Given the description of an element on the screen output the (x, y) to click on. 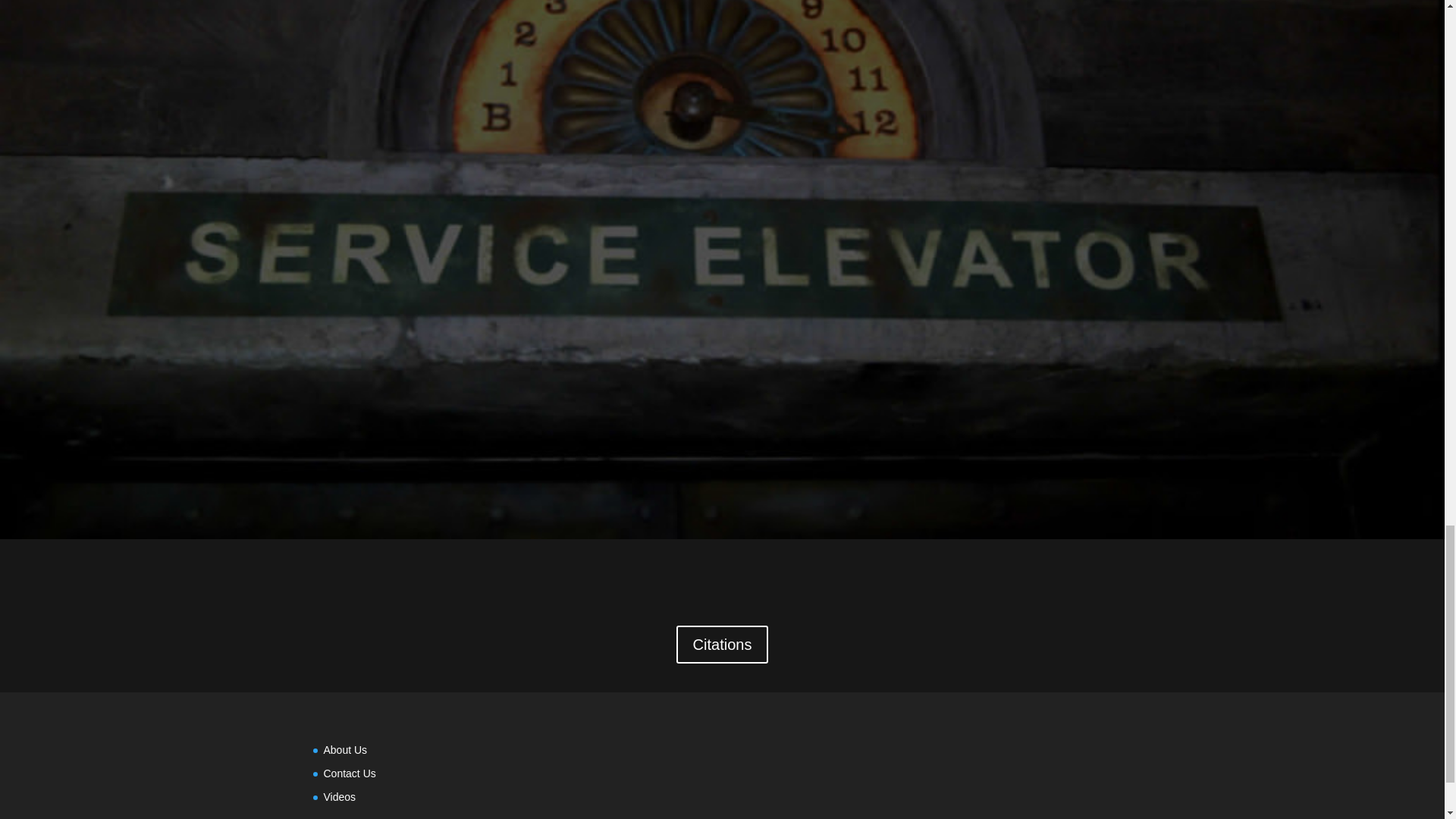
About Us (344, 749)
Citations (722, 644)
Contact Us (349, 773)
Videos (339, 797)
